Given the description of an element on the screen output the (x, y) to click on. 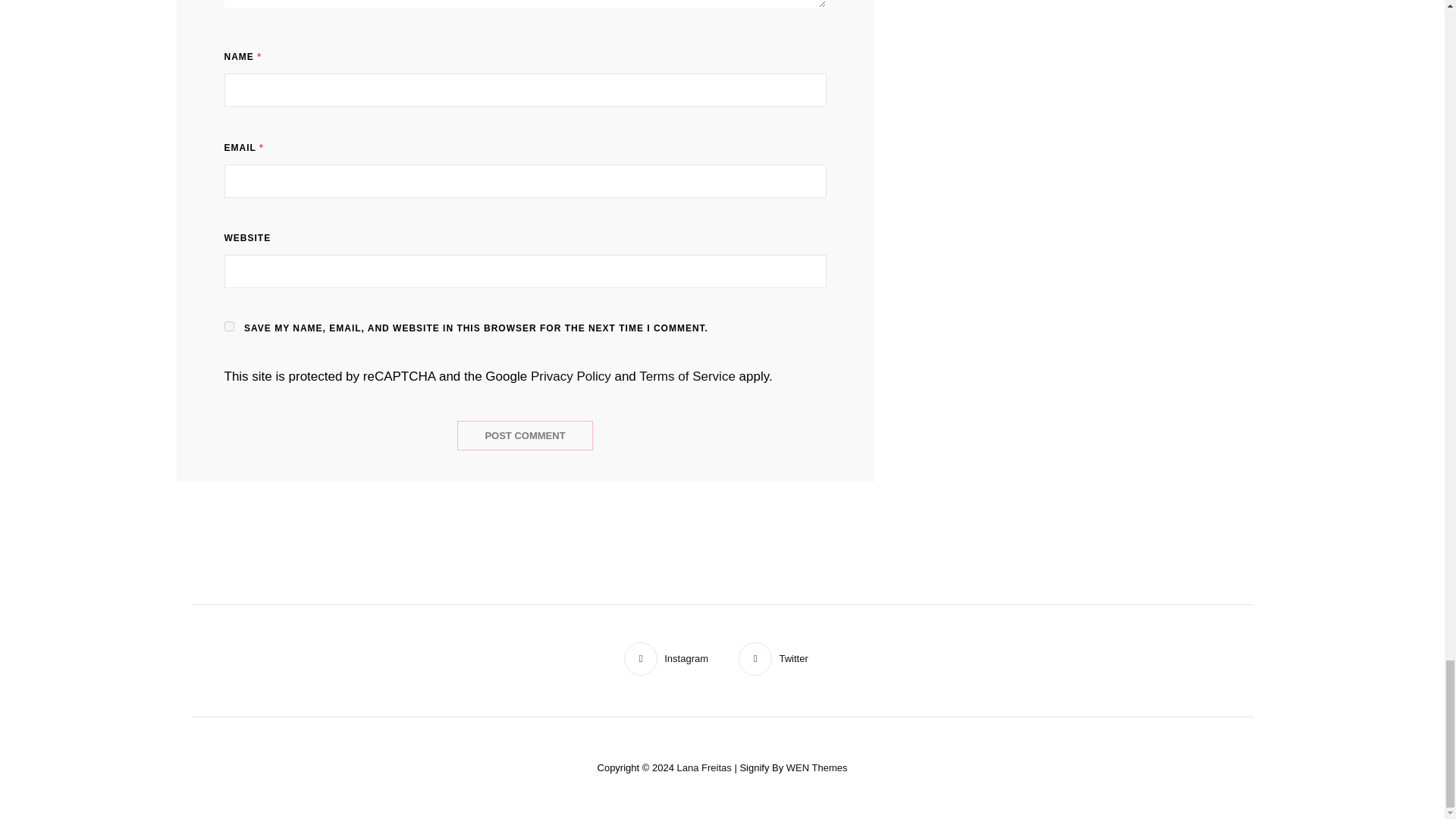
Privacy Policy (571, 376)
Terms of Service (687, 376)
Instagram (665, 658)
Post Comment (524, 435)
yes (229, 326)
WEN Themes (816, 767)
Post Comment (524, 435)
Lana Freitas (703, 767)
Twitter (772, 658)
